Given the description of an element on the screen output the (x, y) to click on. 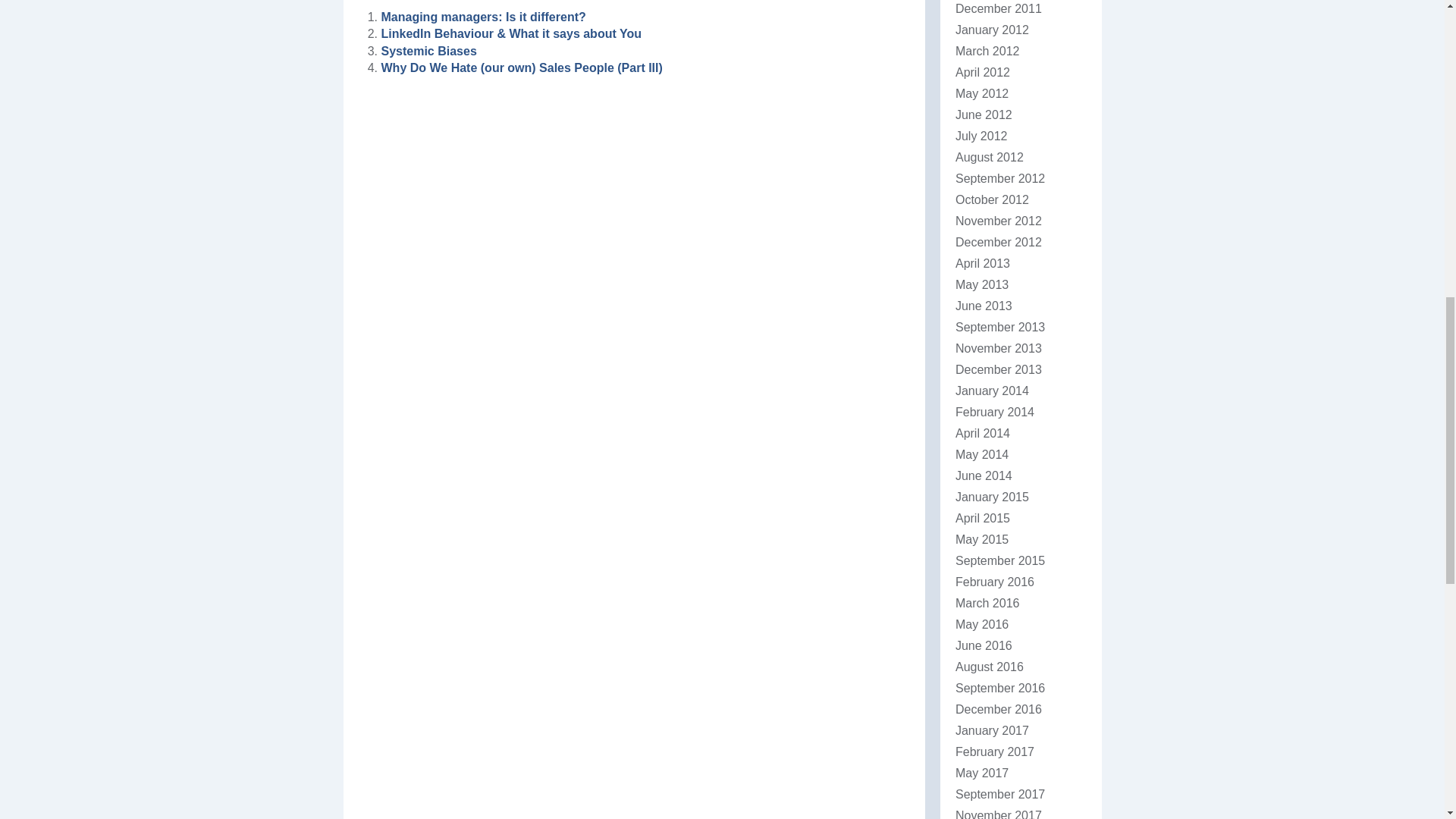
Systemic Biases (428, 51)
Managing managers: Is it different? (482, 16)
Systemic Biases (428, 51)
Managing managers: Is it different? (482, 16)
